Given the description of an element on the screen output the (x, y) to click on. 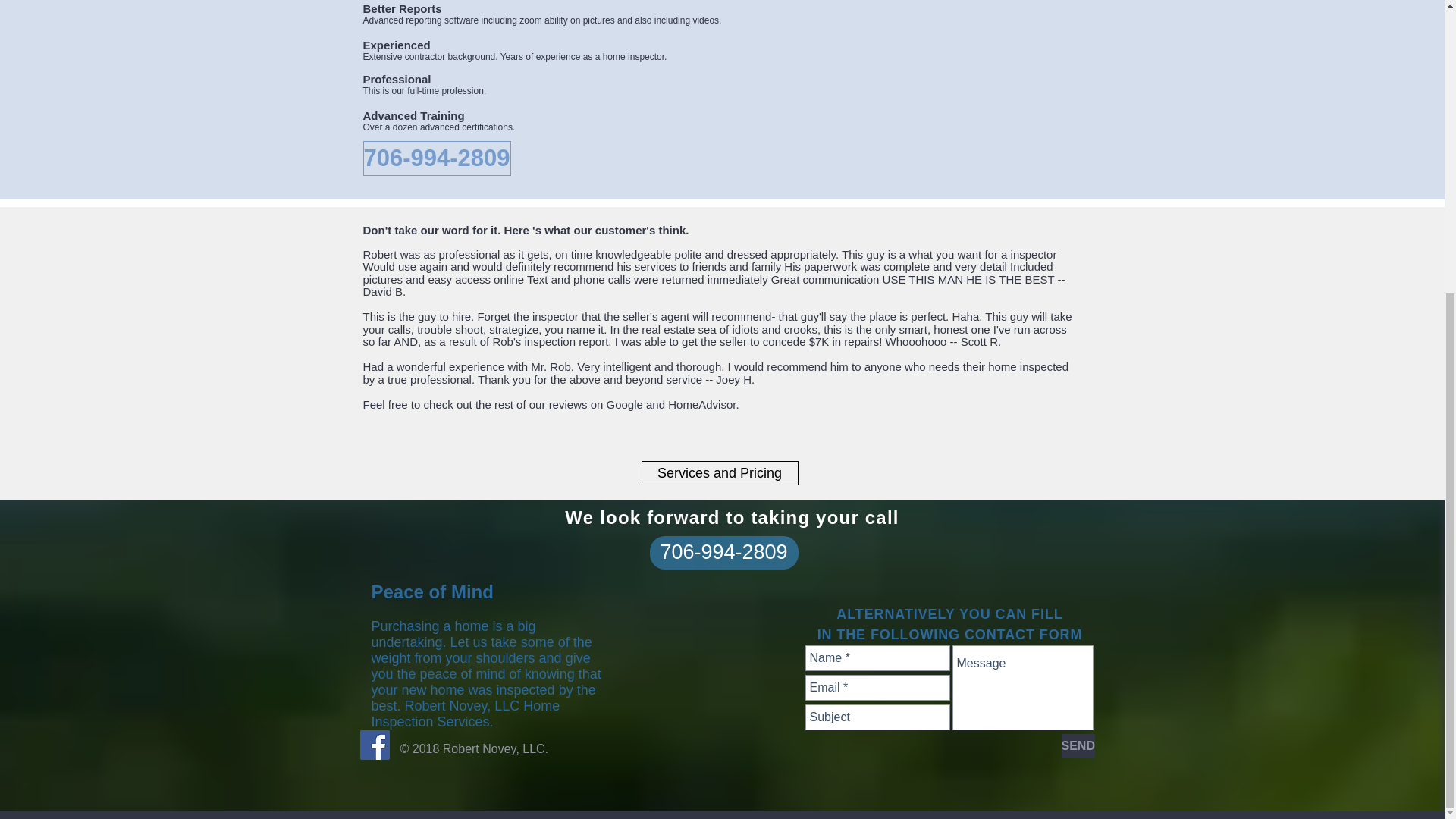
SEND (1077, 745)
Services and Pricing (719, 473)
706-994-2809 (436, 158)
706-994-2809 (723, 552)
